Given the description of an element on the screen output the (x, y) to click on. 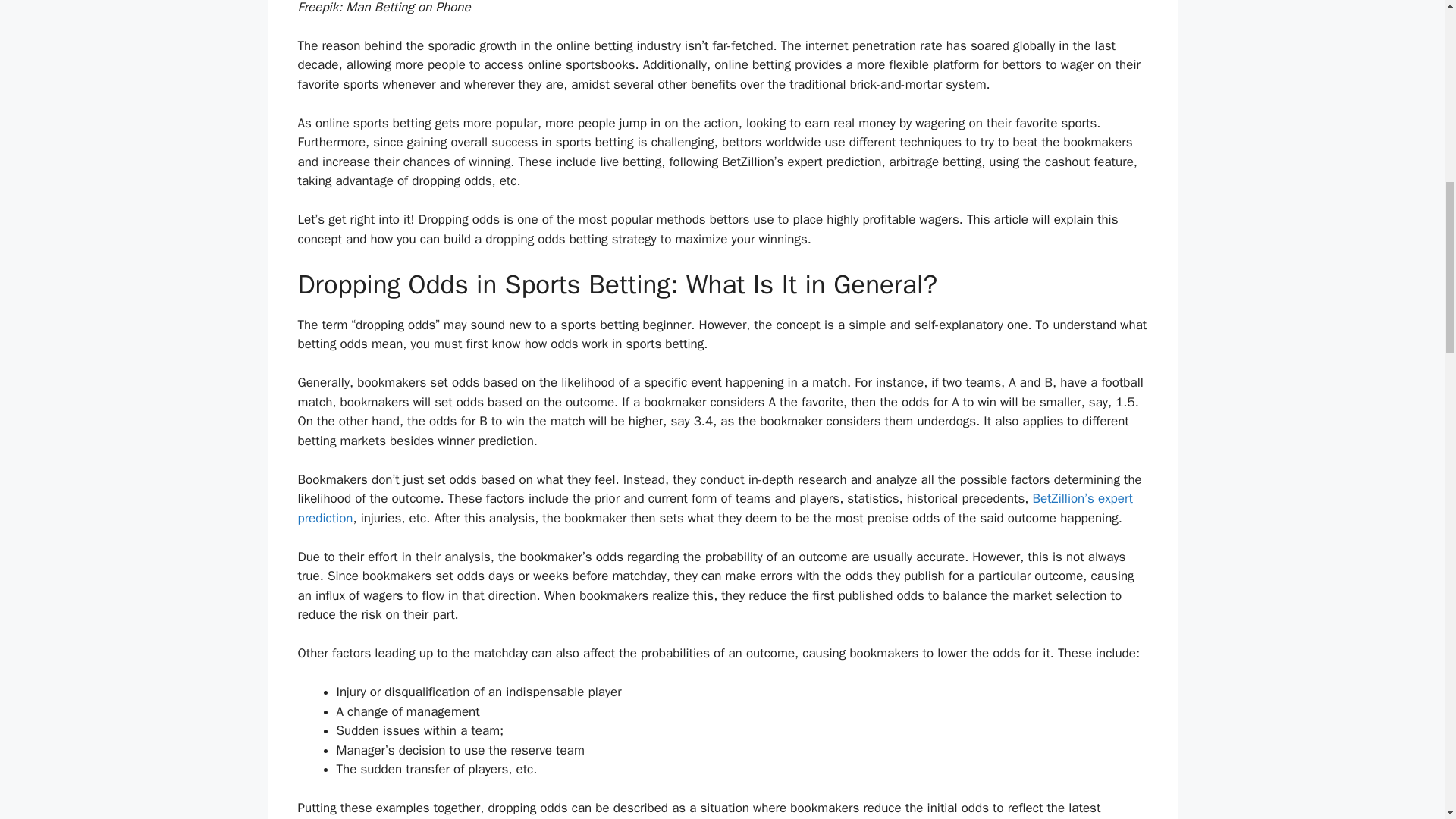
Scroll back to top (1406, 720)
